Given the description of an element on the screen output the (x, y) to click on. 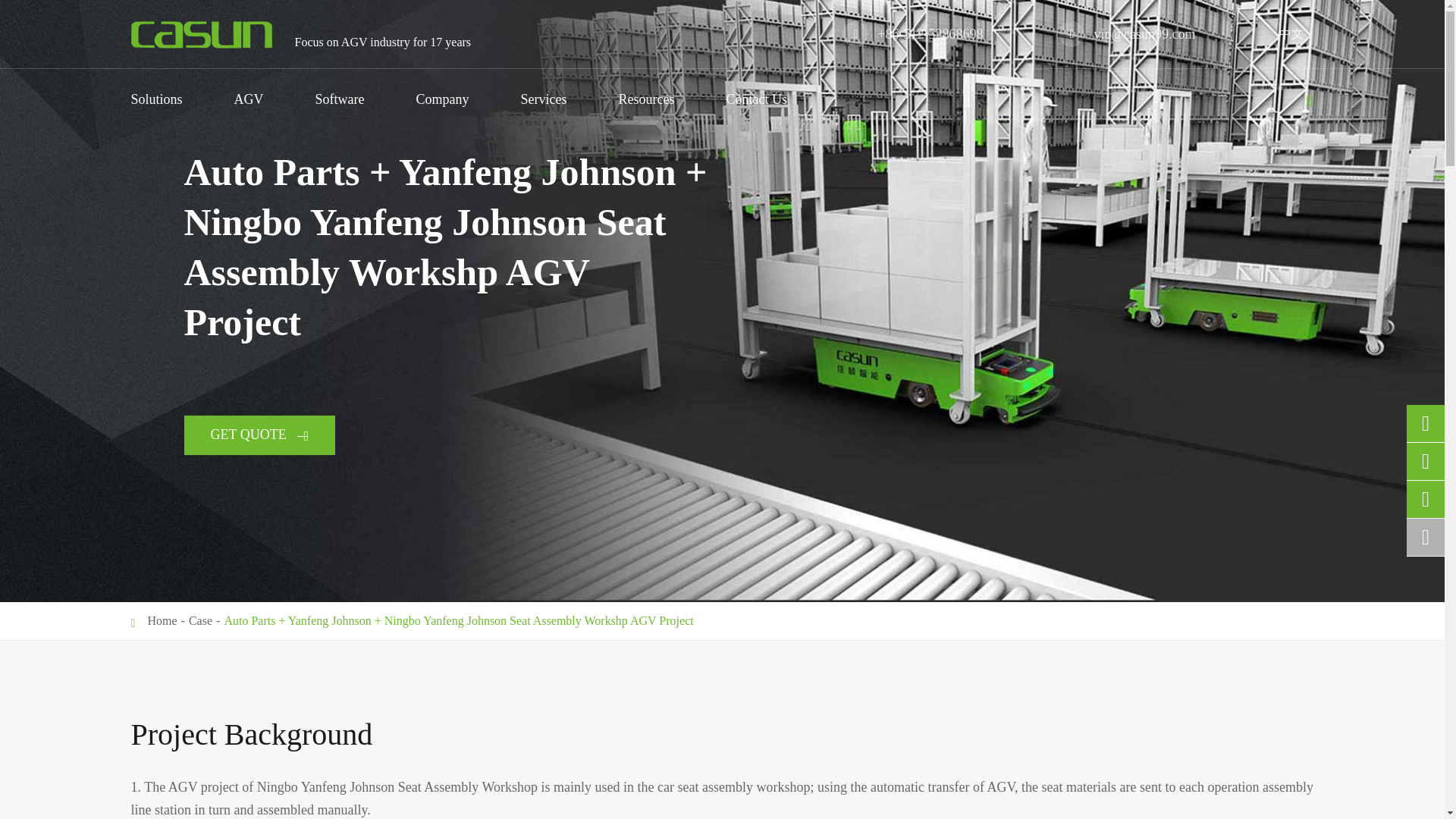
Case (200, 620)
Focus on AGV industry for 17 years (200, 33)
Suzhou Casun Intelligent Robot Co., Ltd. (200, 34)
